Given the description of an element on the screen output the (x, y) to click on. 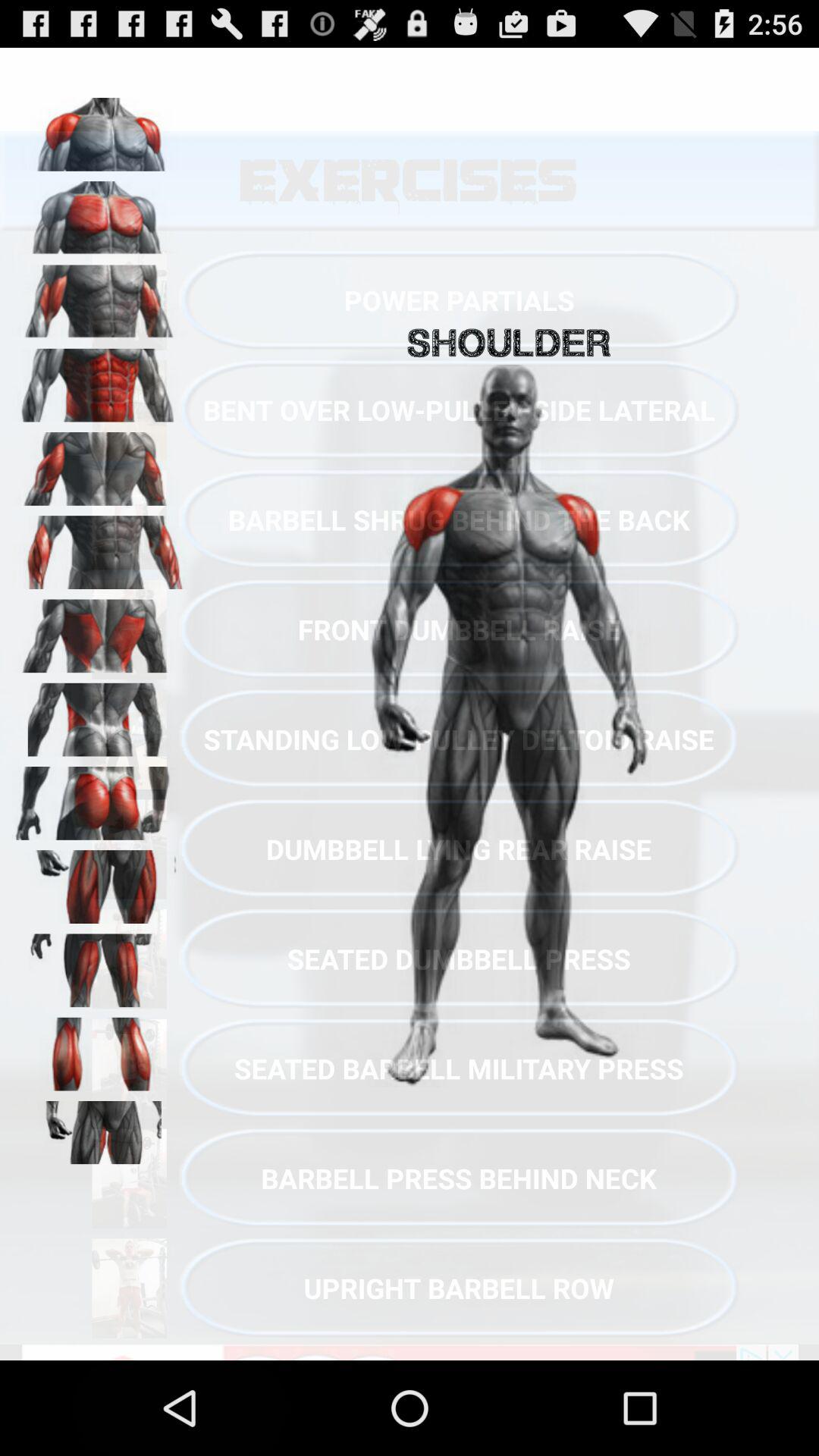
show thigh muscle exercises (99, 881)
